Given the description of an element on the screen output the (x, y) to click on. 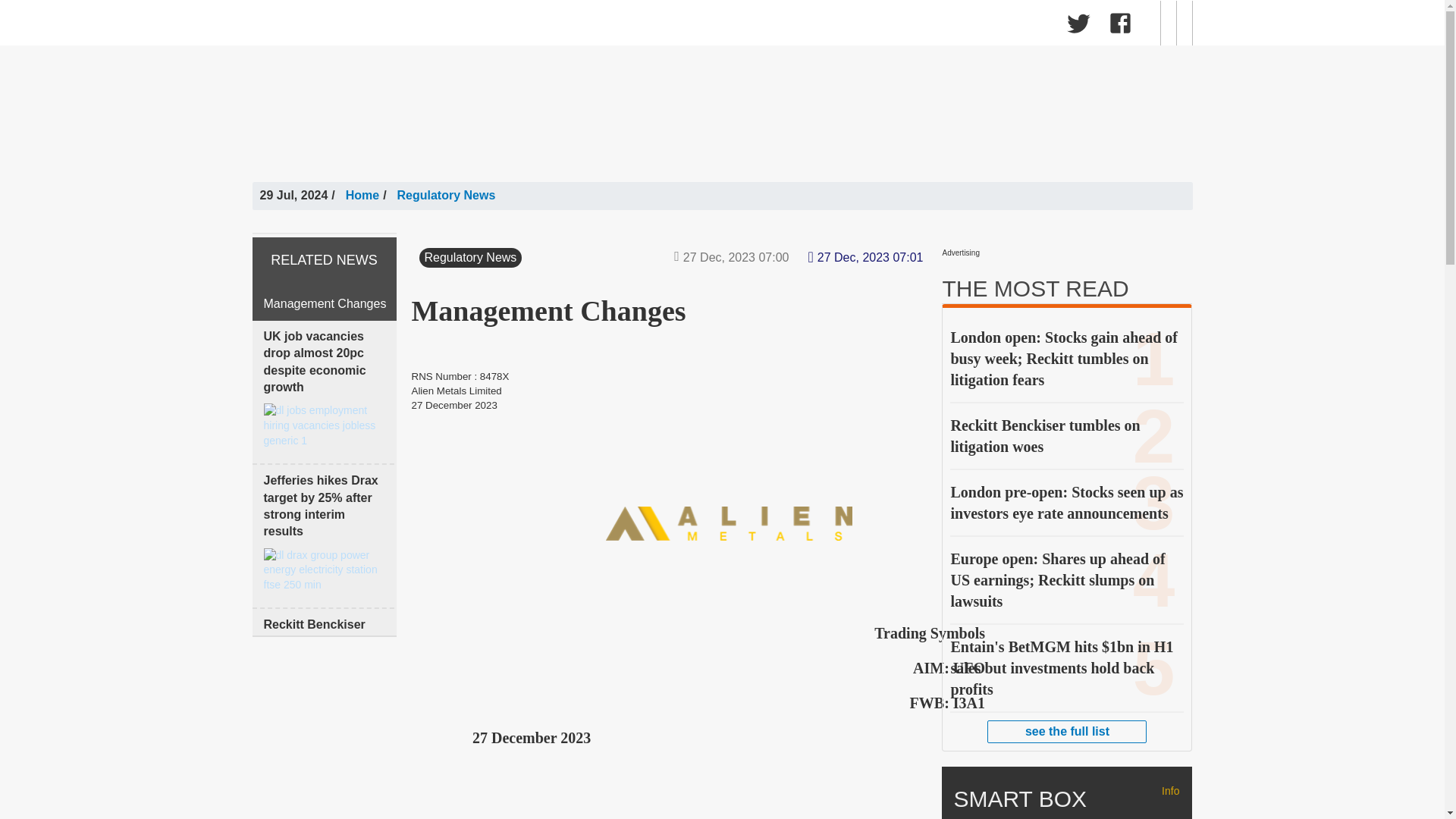
dl jobs employment hiring vacancies jobless generic 1 (325, 425)
Market Data (404, 26)
Cryptocurrencies (633, 26)
Sharecast News (511, 26)
UK Shares (315, 26)
Active Trader (744, 26)
Sharecast (486, 22)
dl drax group power energy electricity station ftse 250 min (325, 569)
